Given the description of an element on the screen output the (x, y) to click on. 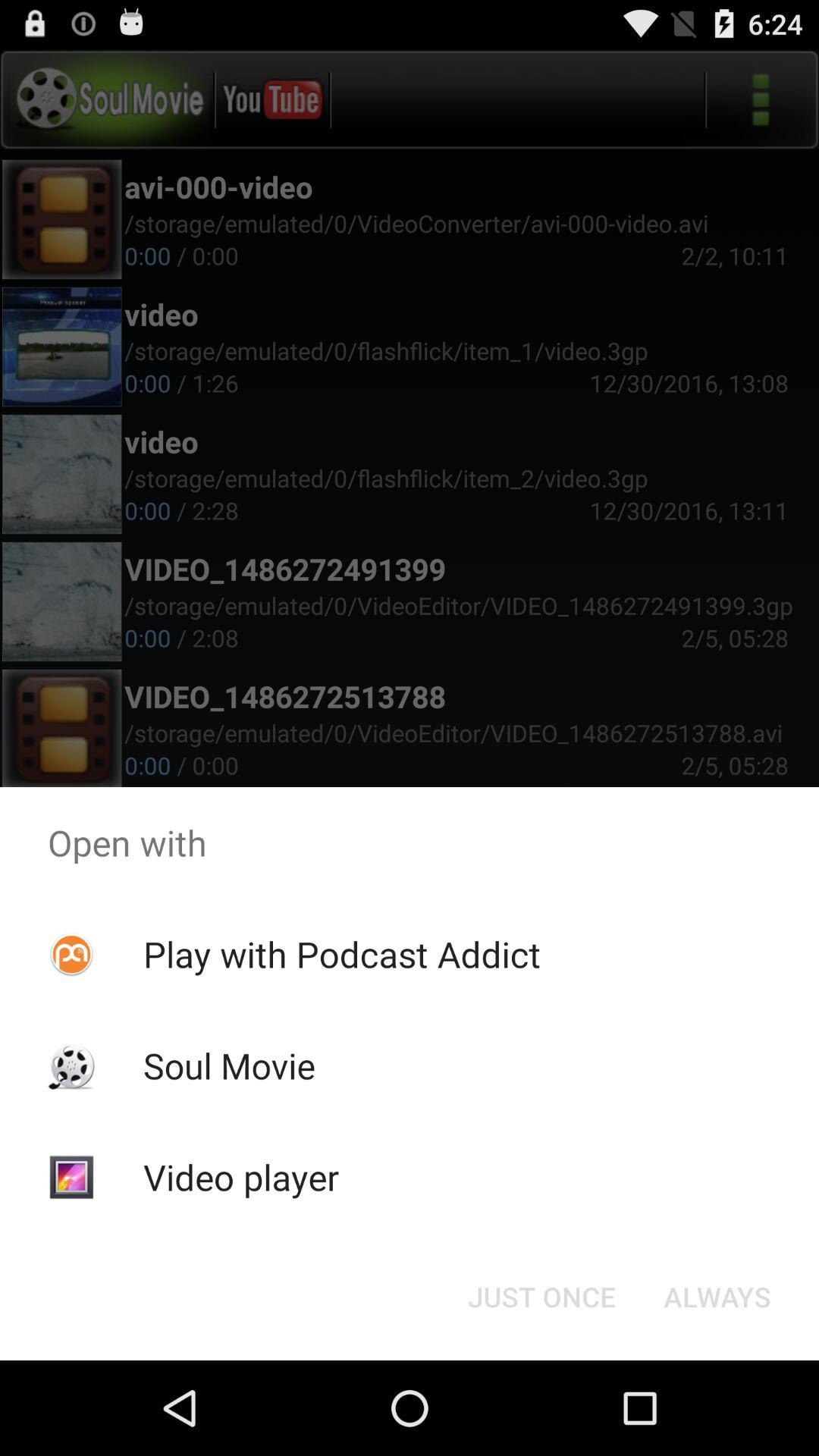
tap video player (240, 1176)
